Given the description of an element on the screen output the (x, y) to click on. 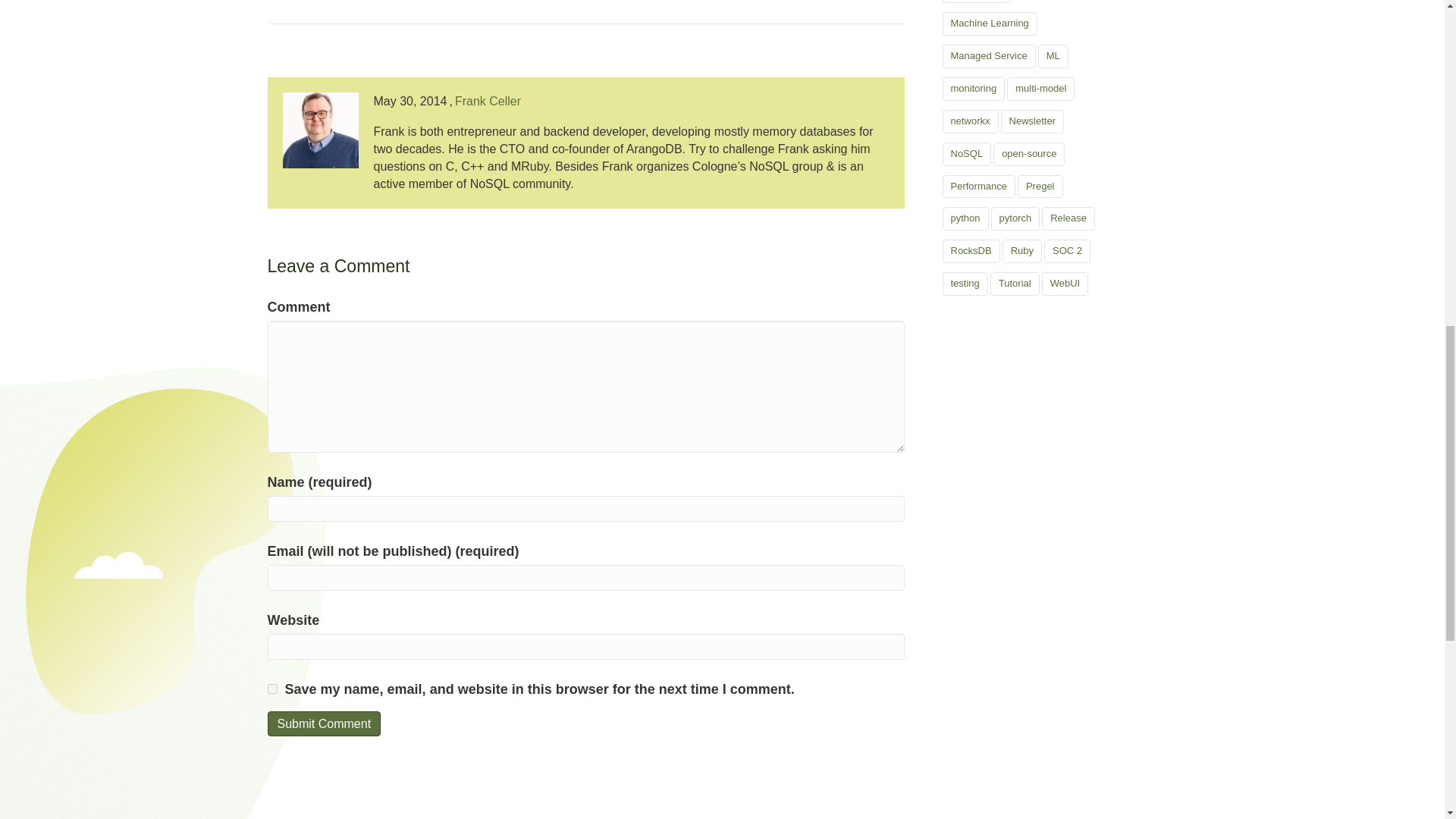
Submit Comment (323, 723)
yes (271, 688)
